Given the description of an element on the screen output the (x, y) to click on. 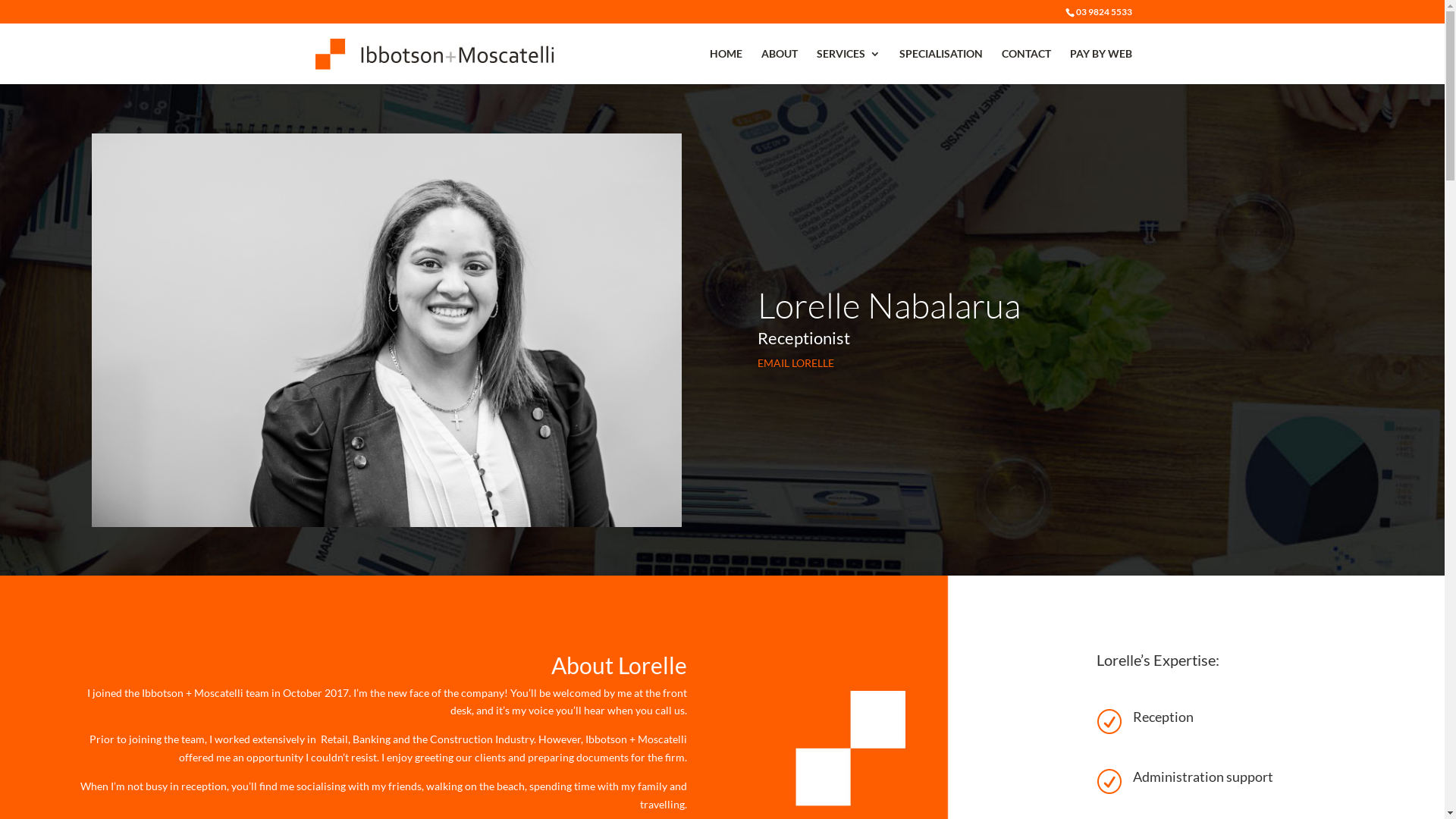
EMAIL LORELLE  Element type: text (796, 362)
SERVICES Element type: text (847, 66)
ABOUT Element type: text (779, 66)
HOME Element type: text (725, 66)
CONTACT Element type: text (1025, 66)
SPECIALISATION Element type: text (940, 66)
PAY BY WEB Element type: text (1100, 66)
